Given the description of an element on the screen output the (x, y) to click on. 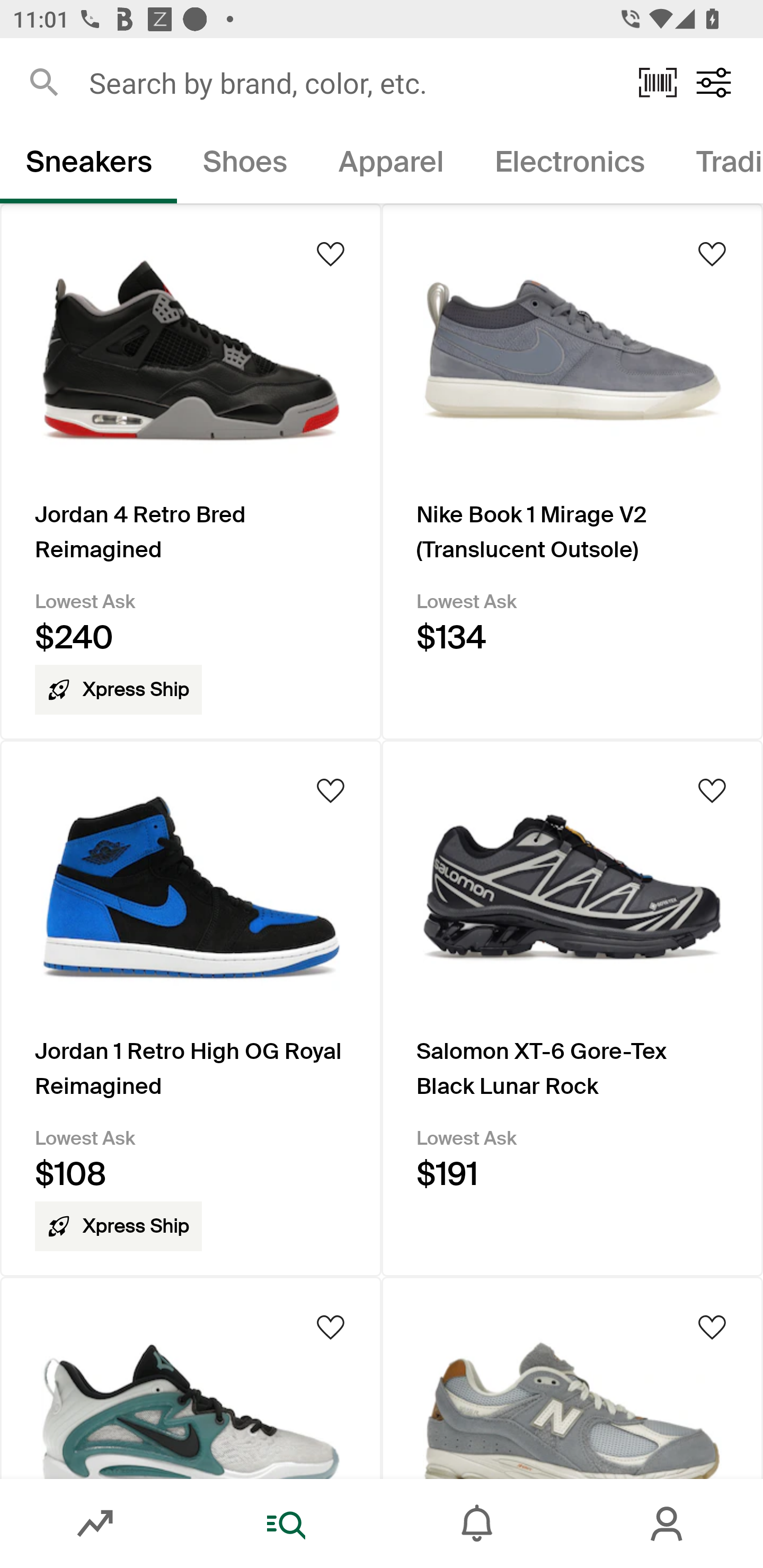
Search by brand, color, etc. (351, 82)
Shoes (244, 165)
Apparel (390, 165)
Electronics (569, 165)
Product Image (190, 1377)
Product Image (572, 1377)
Market (95, 1523)
Inbox (476, 1523)
Account (667, 1523)
